Given the description of an element on the screen output the (x, y) to click on. 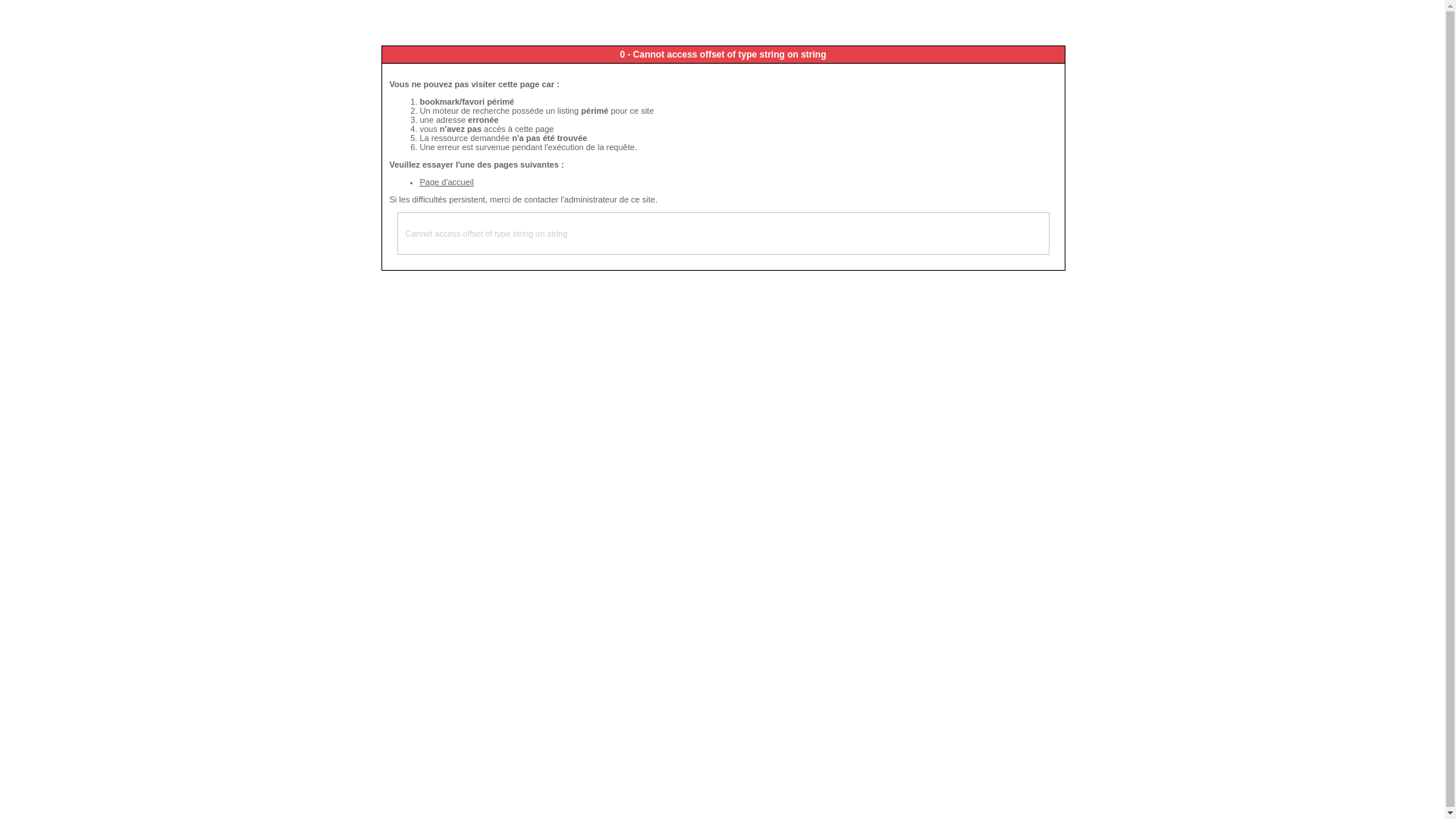
Page d'accueil Element type: text (446, 181)
